Given the description of an element on the screen output the (x, y) to click on. 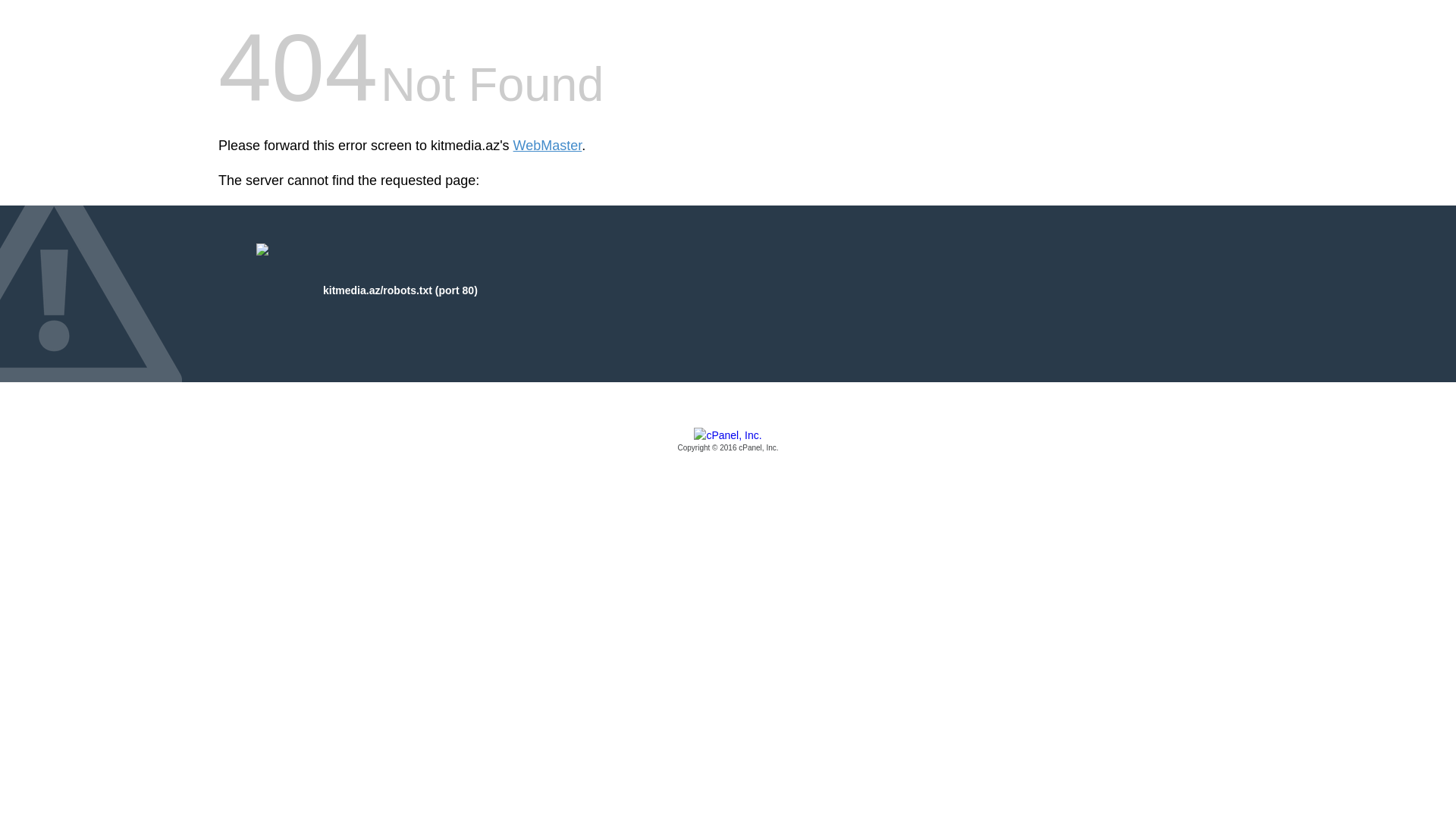
WebMaster Element type: text (547, 145)
